Given the description of an element on the screen output the (x, y) to click on. 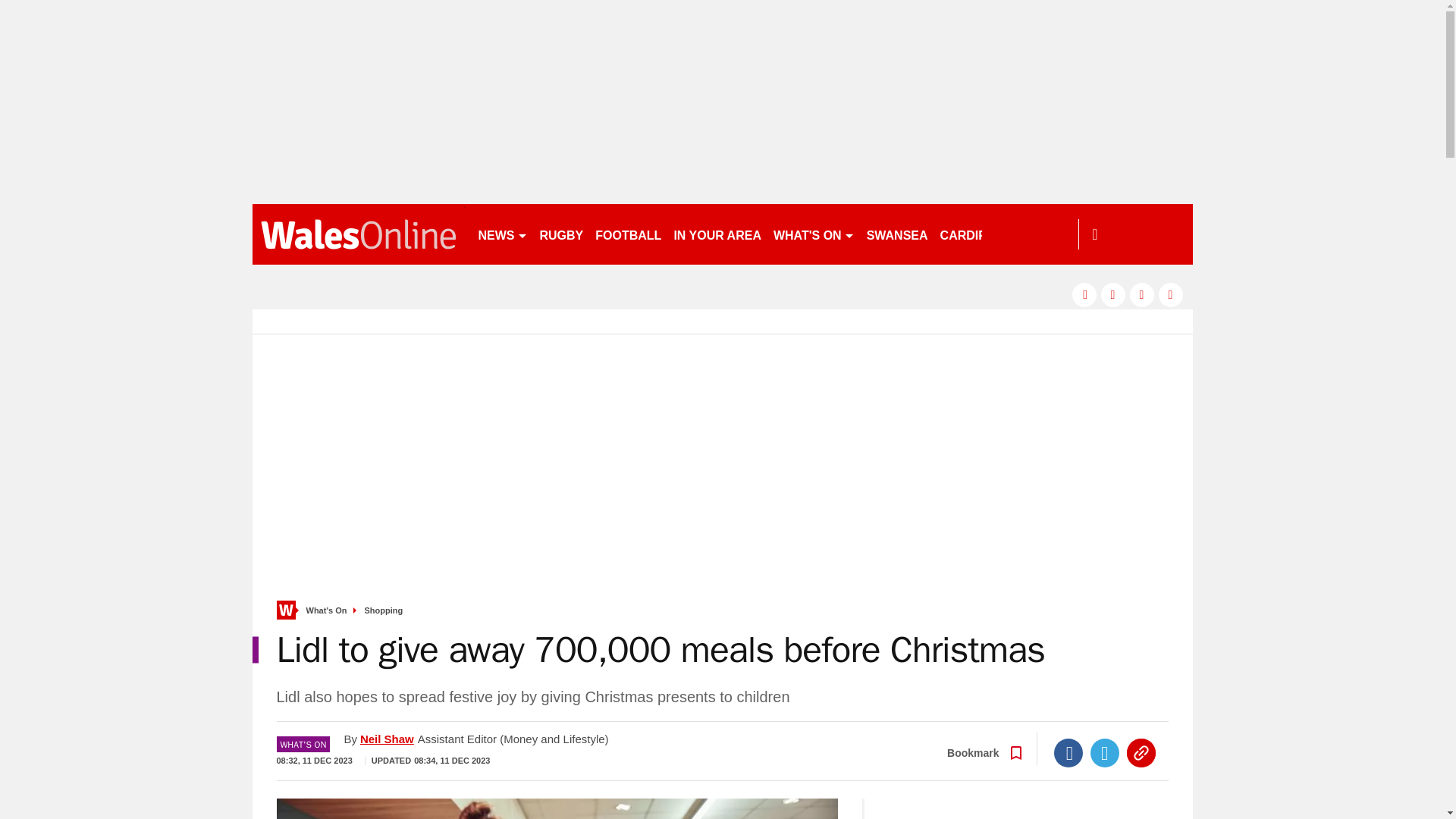
pinterest (1141, 294)
FOOTBALL (627, 233)
Facebook (1068, 752)
walesonline (357, 233)
NEWS (501, 233)
instagram (1170, 294)
WHAT'S ON (813, 233)
twitter (1112, 294)
RUGBY (561, 233)
Twitter (1104, 752)
